Given the description of an element on the screen output the (x, y) to click on. 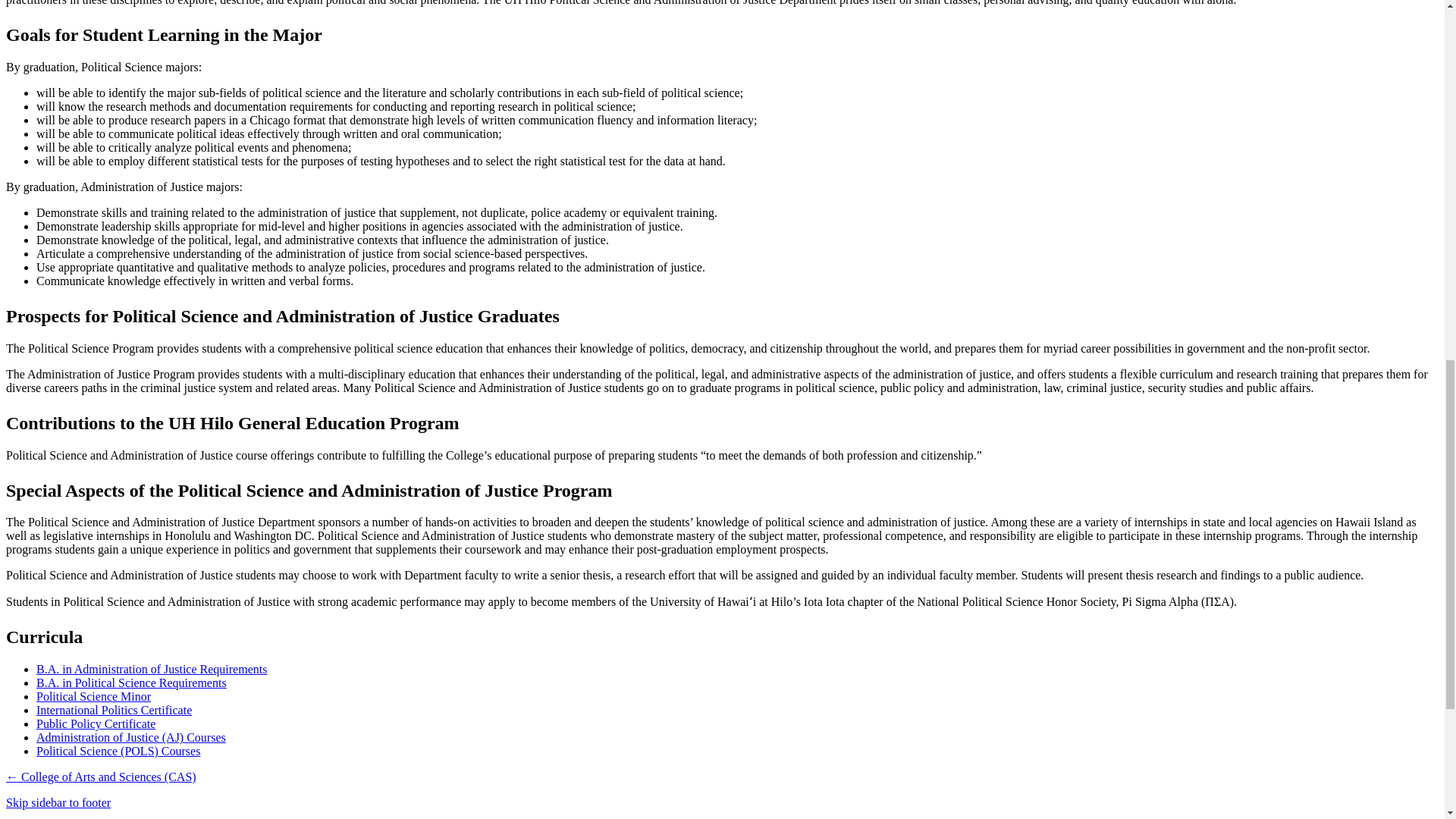
Skip sidebar to footer (57, 802)
B.A. in Political Science Requirements (131, 682)
B.A. in Administration of Justice Requirements (151, 668)
Public Policy Certificate (95, 723)
International Politics Certificate (114, 709)
Political Science Minor (93, 696)
